Given the description of an element on the screen output the (x, y) to click on. 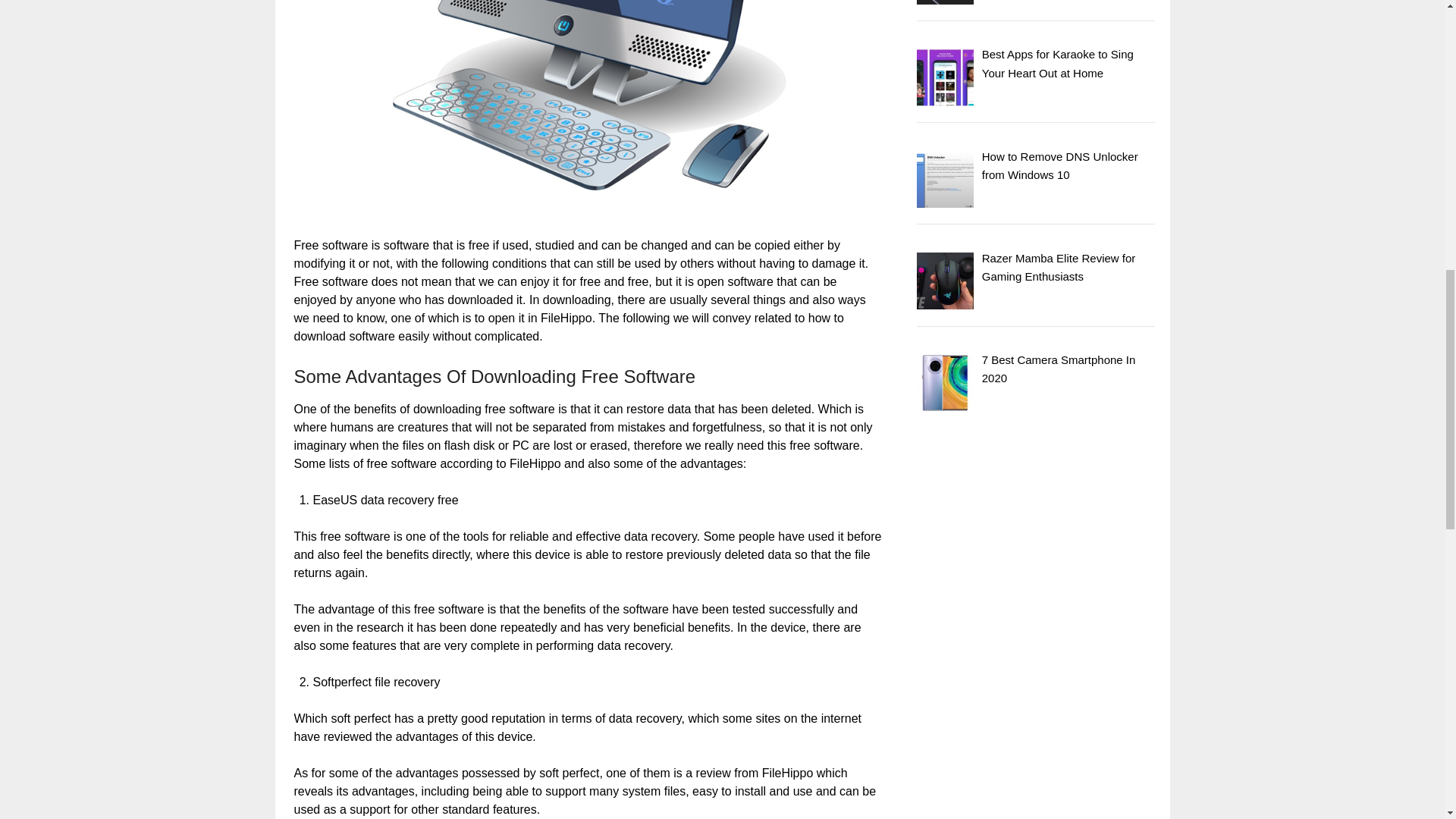
7 Best Camera Smartphone In 2020 (1058, 368)
How to Remove DNS Unlocker from Windows 10 (1059, 164)
Best Apps for Karaoke to Sing Your Heart Out at Home (1057, 62)
Razer Mamba Elite Review for Gaming Enthusiasts (1058, 266)
